Given the description of an element on the screen output the (x, y) to click on. 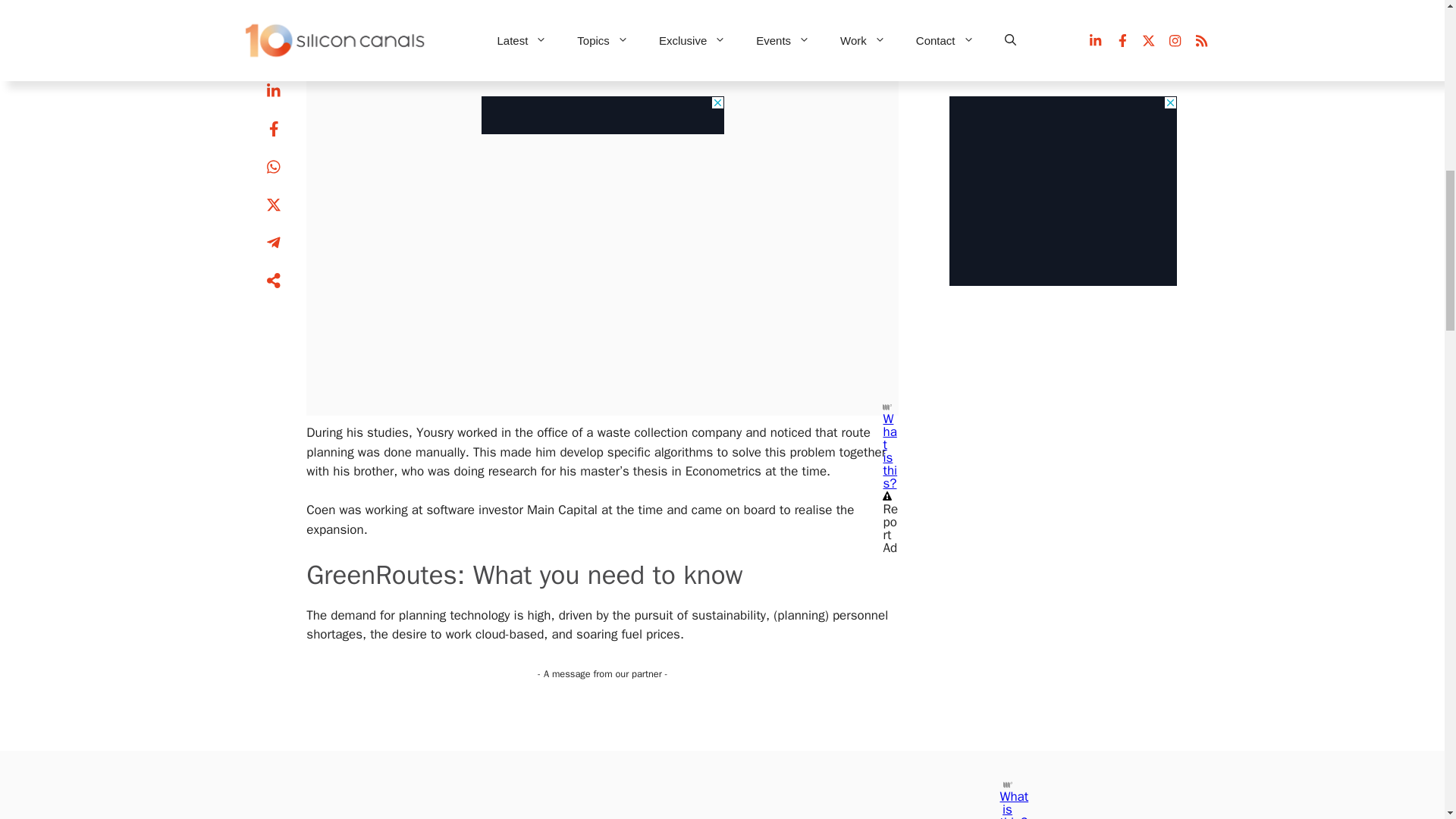
Scroll back to top (1406, 720)
3rd party ad content (1062, 40)
3rd party ad content (602, 100)
